Given the description of an element on the screen output the (x, y) to click on. 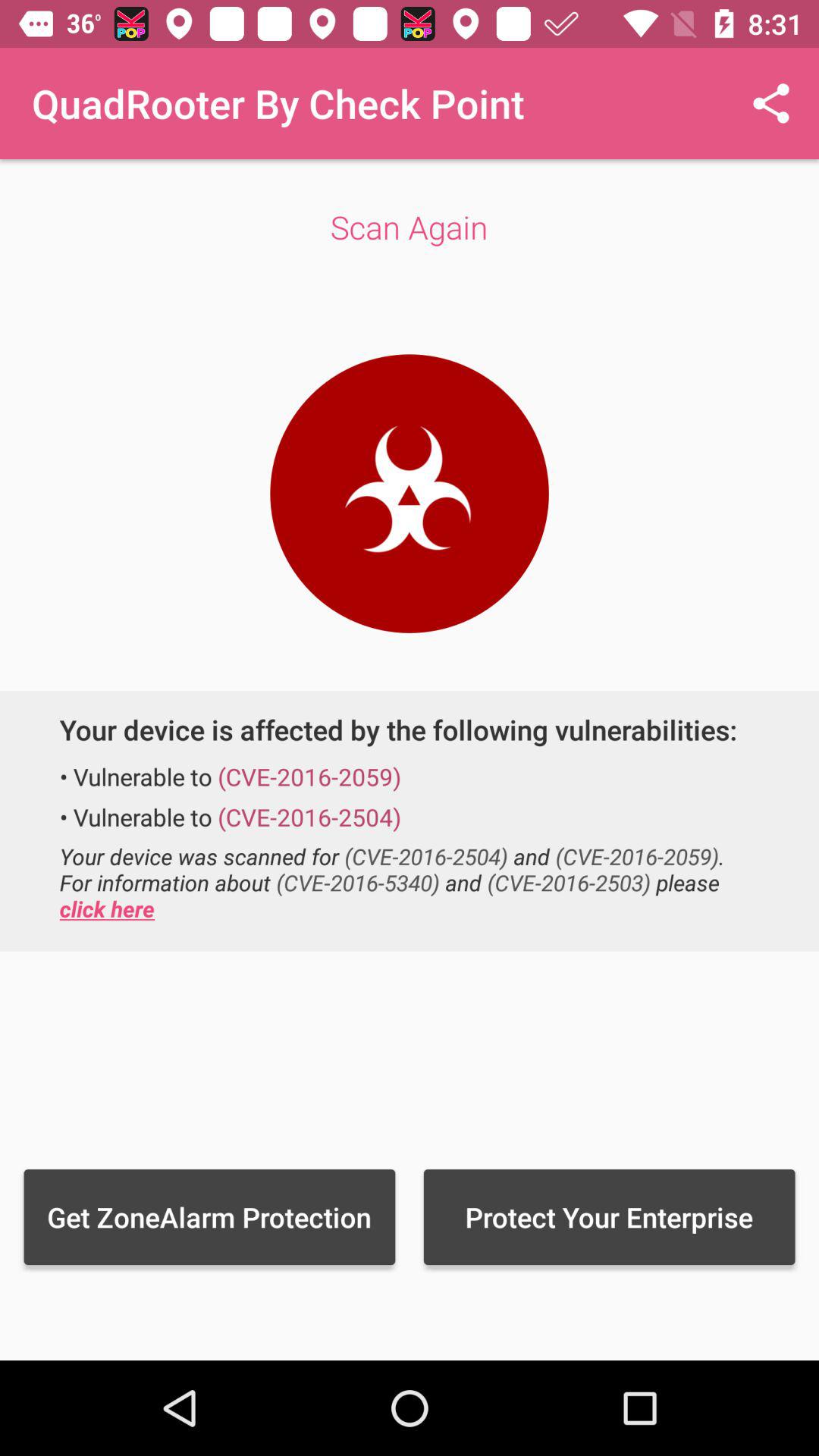
tap get zonealarm protection icon (209, 1216)
